Given the description of an element on the screen output the (x, y) to click on. 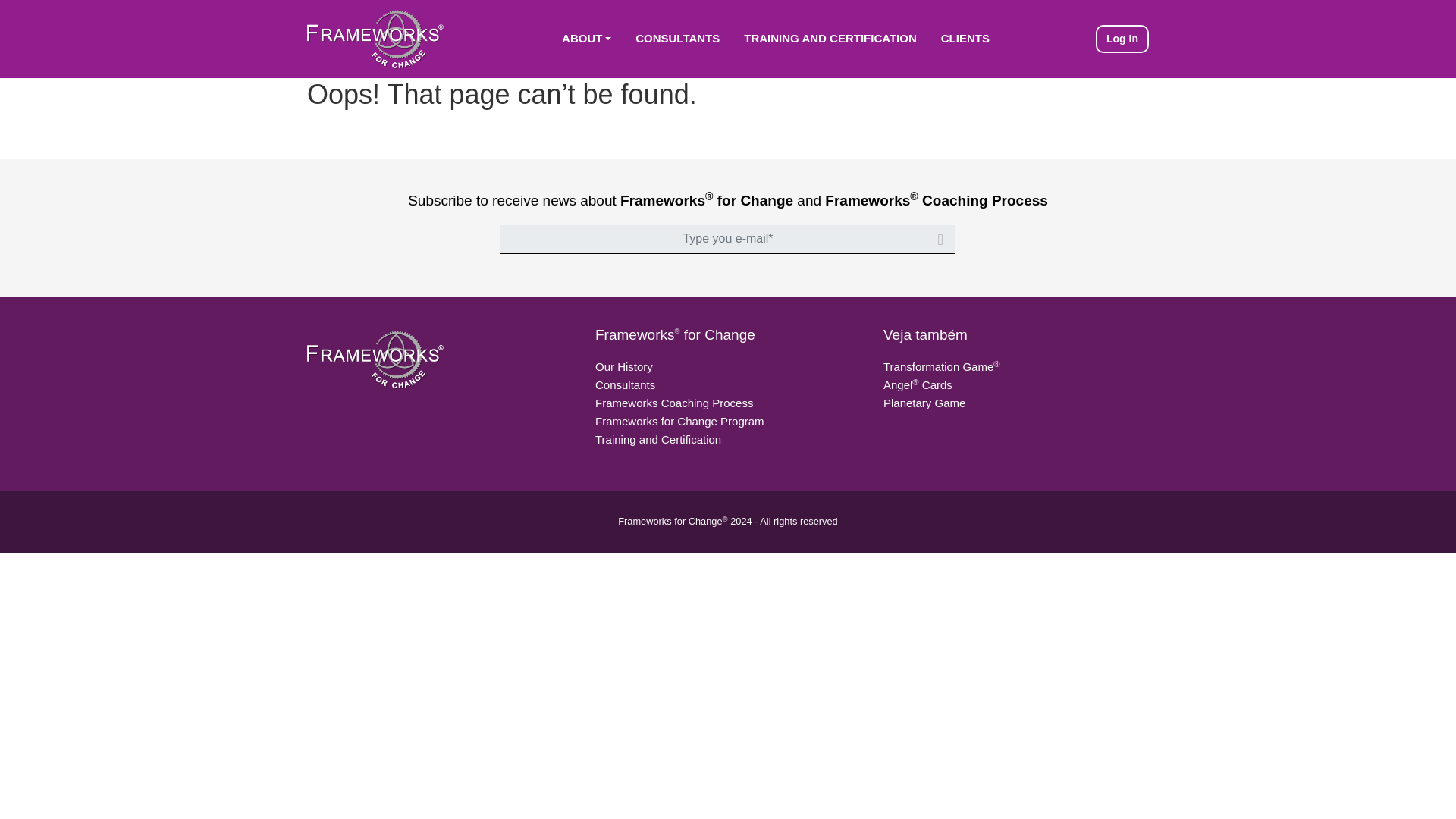
ABOUT (586, 38)
Log In (1122, 39)
TRAINING AND CERTIFICATION (830, 38)
CONSULTANTS (677, 38)
Consultants (677, 38)
Our History (623, 366)
About (586, 38)
Training and Certification (657, 439)
Consultants (625, 384)
Frameworks for Change Program (679, 420)
Clients (964, 38)
Planetary Game (924, 402)
Frameworks Coaching Process (673, 402)
CLIENTS (964, 38)
Training and Certification (830, 38)
